Given the description of an element on the screen output the (x, y) to click on. 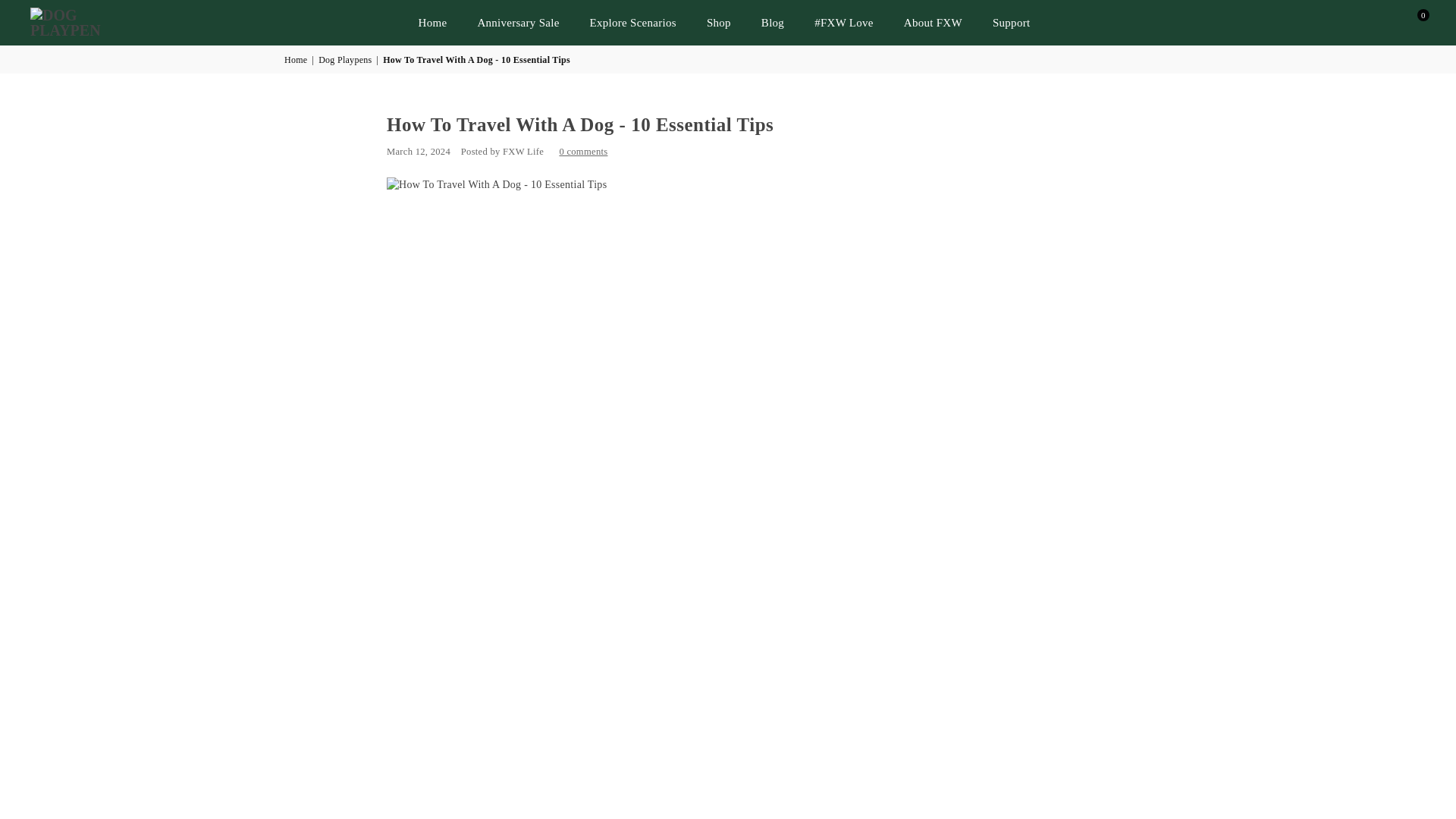
Shop (718, 22)
Cart (1411, 22)
FXW (94, 22)
Settings (1384, 22)
Explore Scenarios (632, 22)
Search (1357, 22)
Home (432, 22)
Anniversary Sale (517, 22)
Back to the home page (295, 60)
